Given the description of an element on the screen output the (x, y) to click on. 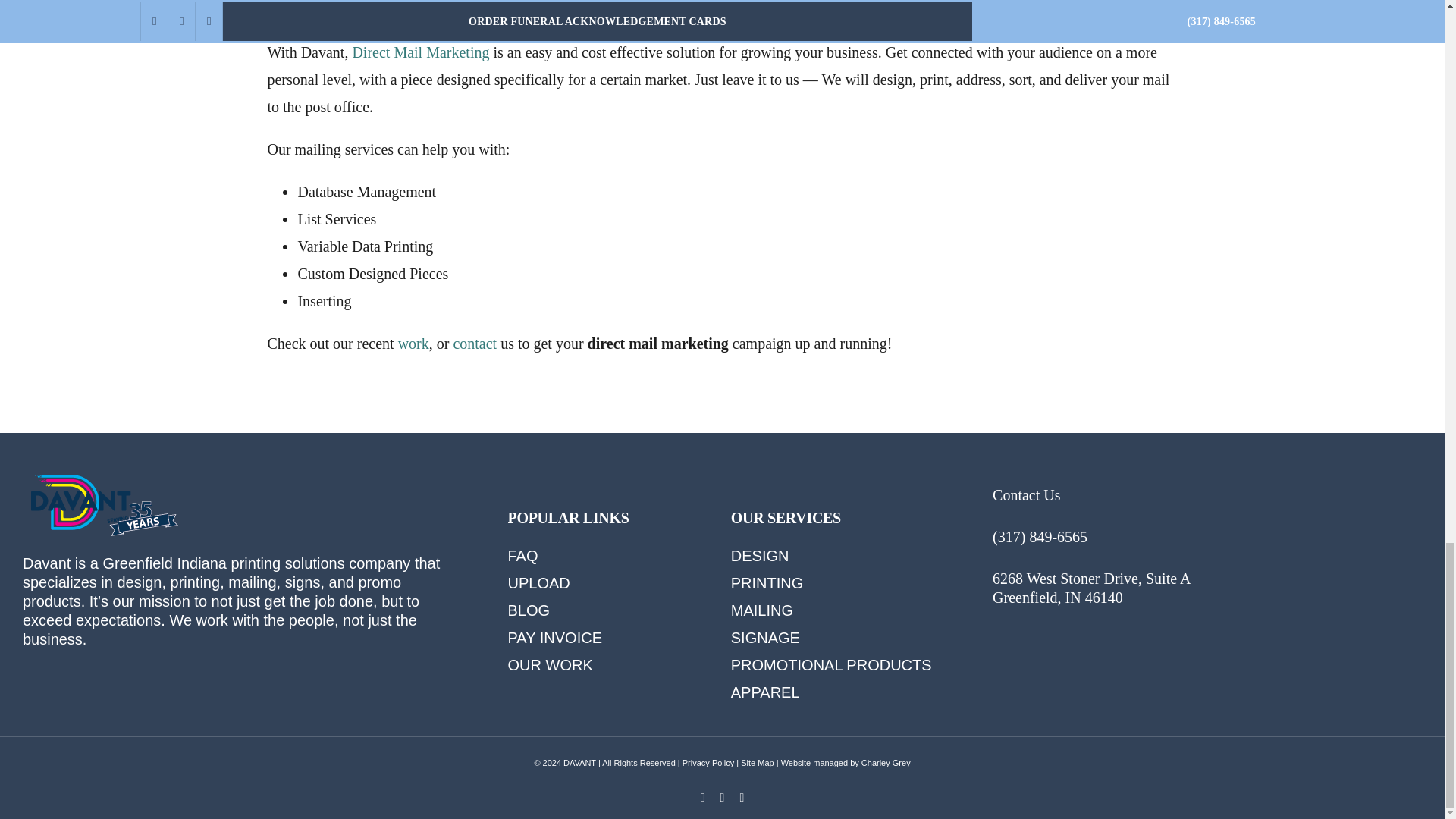
printing (195, 582)
design (138, 582)
FAQ (523, 555)
mailing (252, 582)
work (212, 619)
Davant-Celebrating-35-Years-logo (103, 504)
printing (256, 563)
signs (302, 582)
contact (474, 343)
Direct Mail Marketing (420, 52)
